Given the description of an element on the screen output the (x, y) to click on. 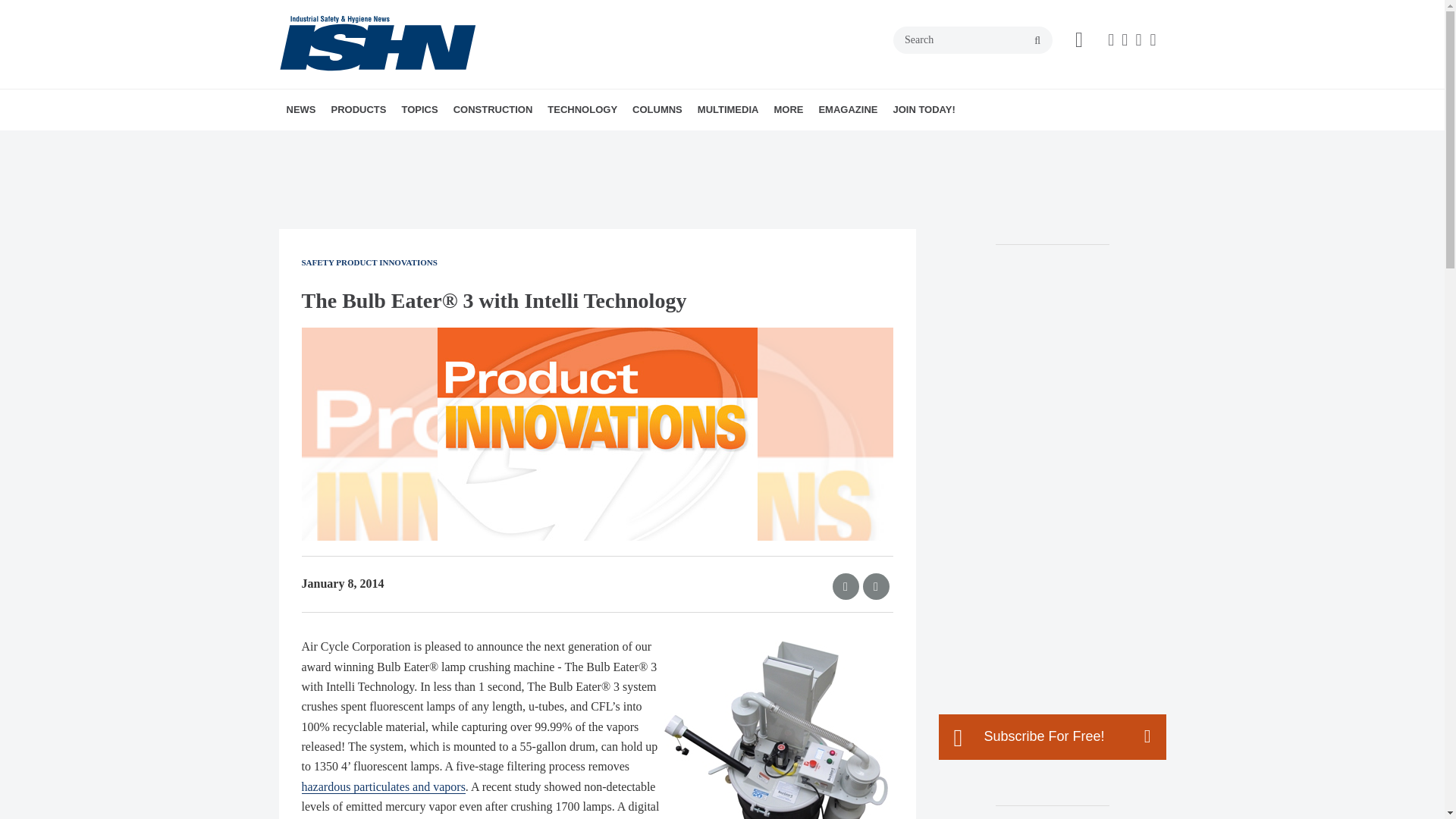
PPE (519, 142)
NEWS (301, 109)
ISHN PODCAST (784, 142)
TOPICS (419, 109)
MORE TOPICS (522, 142)
PRODUCTS (358, 109)
PRODUCT INNOVATIONS (417, 142)
LEADING SAFETY (740, 142)
OCCUPATIONAL SAFETY (515, 142)
Search (972, 40)
MULTIMEDIA (728, 109)
TECHNOLOGY (582, 109)
EDITORIAL COMMENTS (736, 142)
COLUMNS (657, 109)
Search (972, 40)
